Given the description of an element on the screen output the (x, y) to click on. 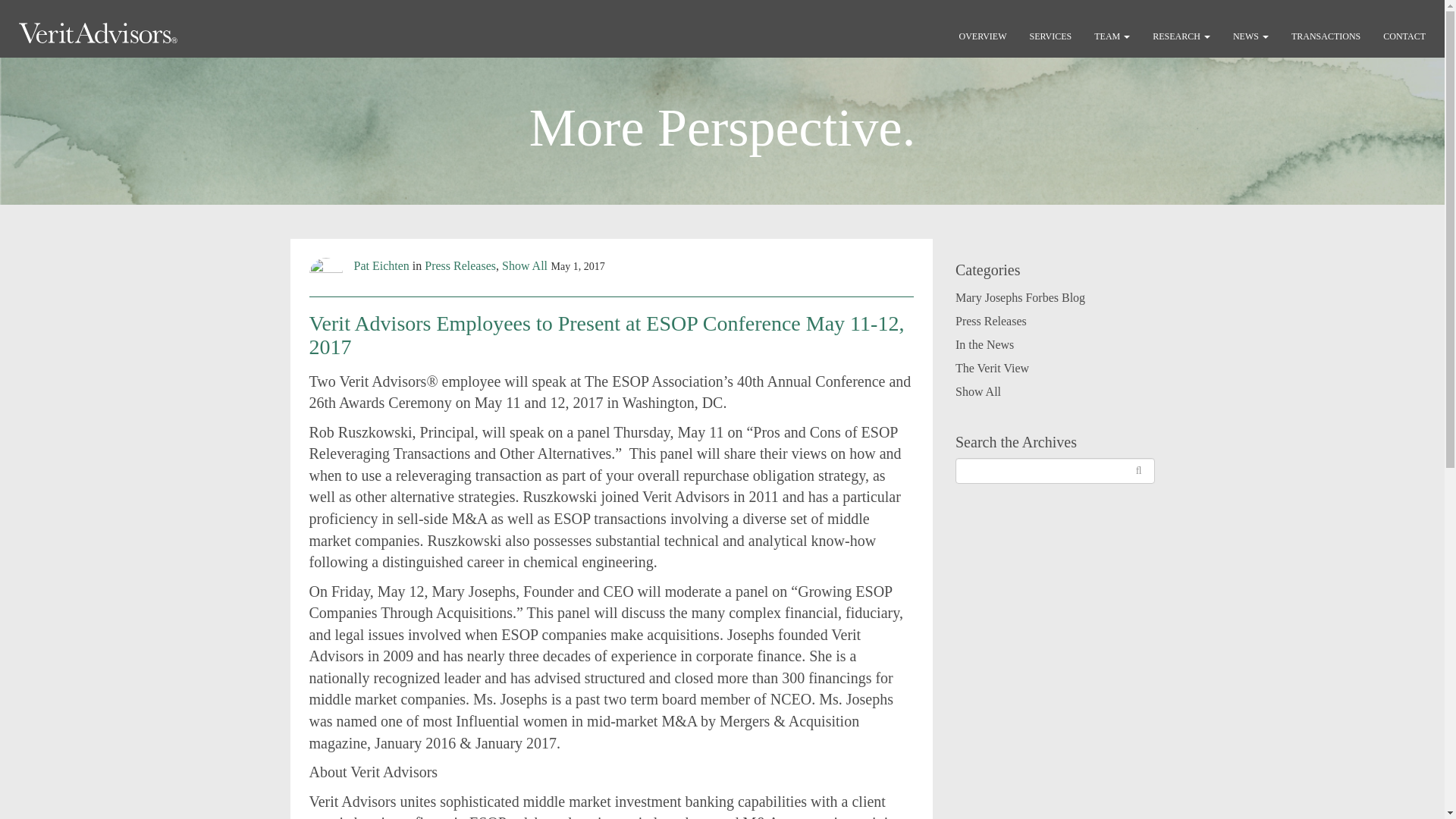
Press Releases (990, 320)
TEAM (1112, 36)
Overview (982, 36)
The Verit View (992, 367)
RESEARCH (1181, 36)
TRANSACTIONS (1325, 36)
Research (1181, 36)
Show All (978, 391)
In the News (984, 344)
Search (1054, 470)
Press Releases (460, 265)
Mary Josephs Forbes Blog (1019, 297)
Posts by Pat Eichten (381, 265)
Show All (524, 265)
OVERVIEW (982, 36)
